Given the description of an element on the screen output the (x, y) to click on. 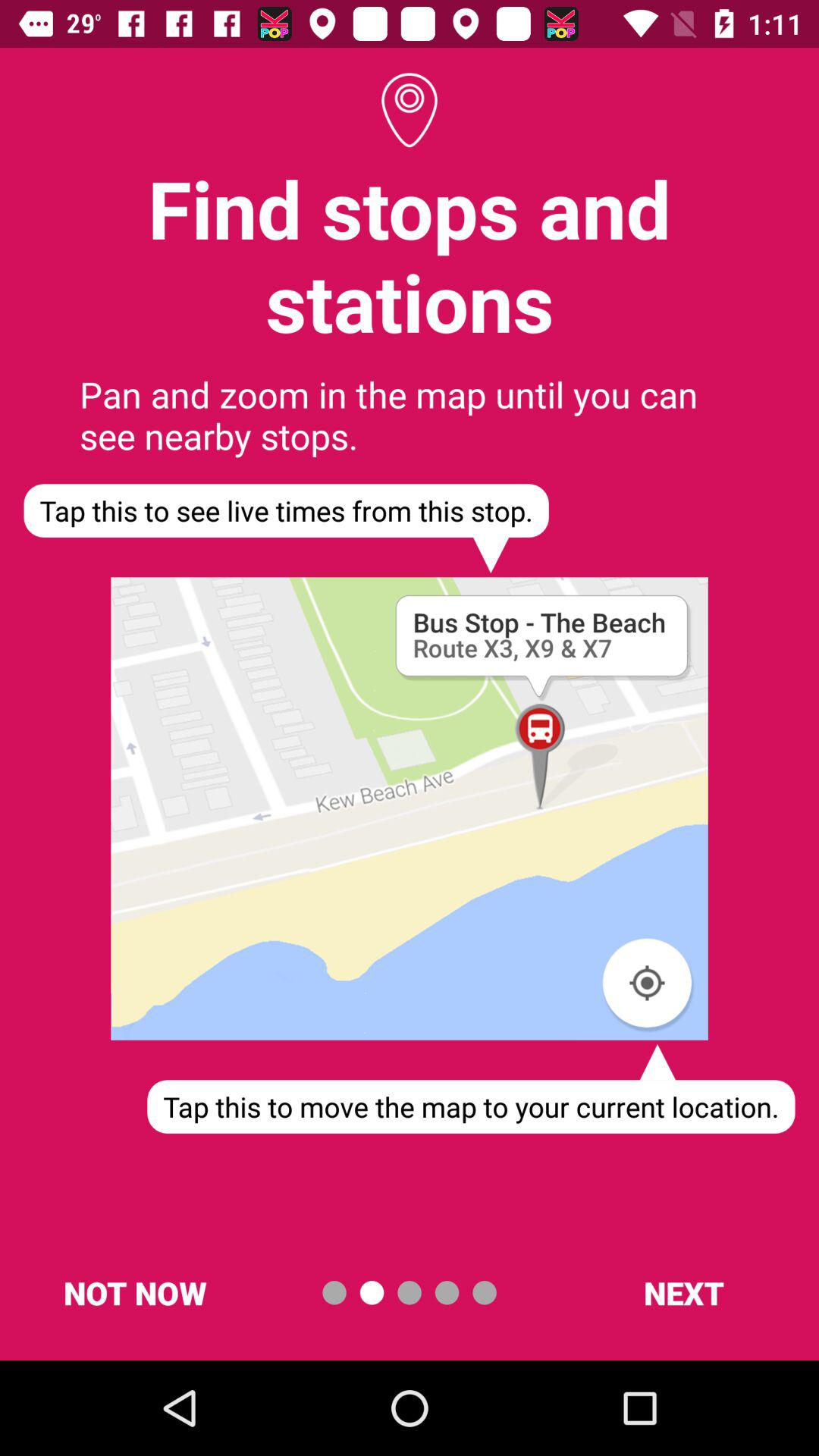
swipe until next button (683, 1292)
